Given the description of an element on the screen output the (x, y) to click on. 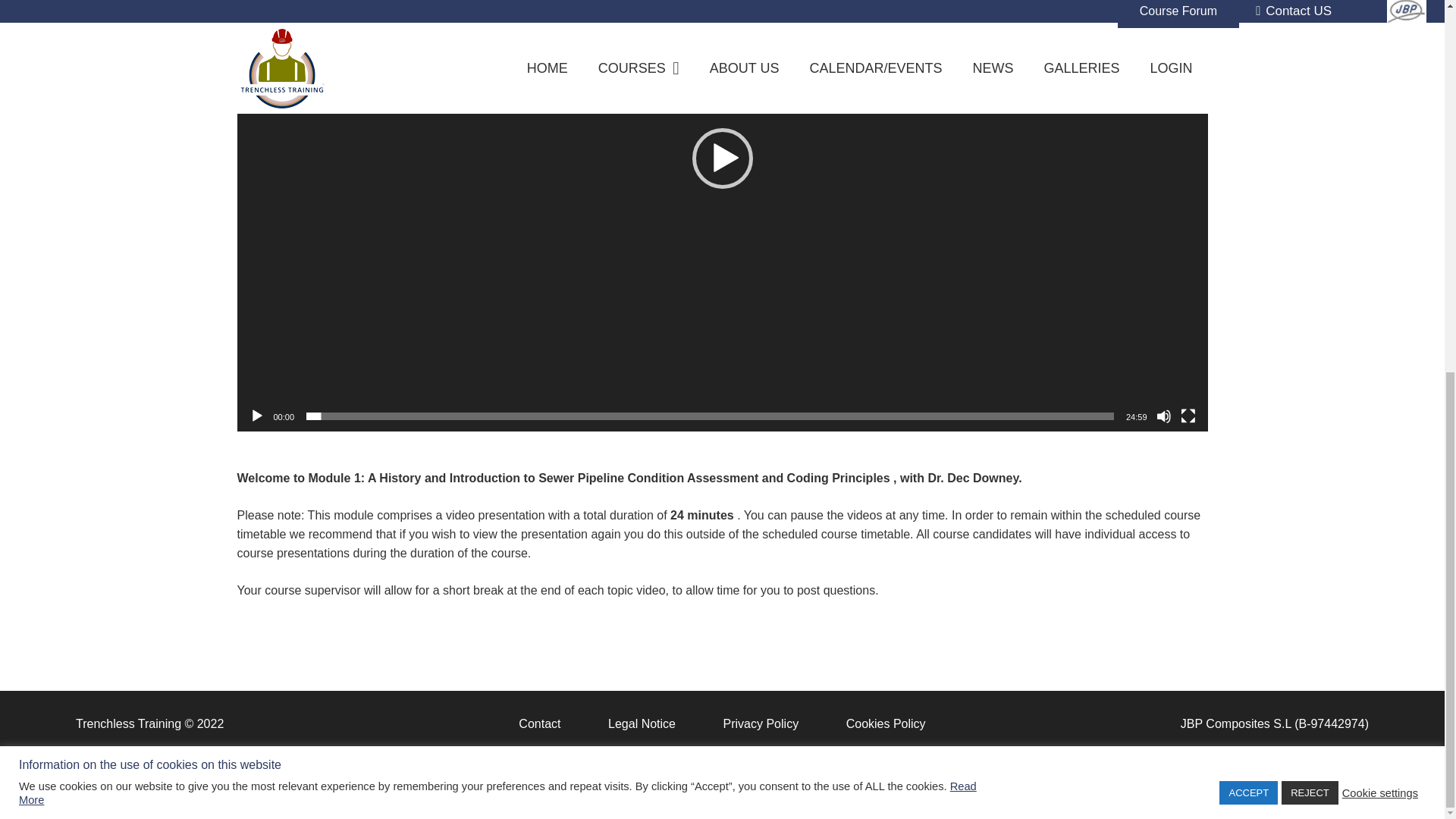
Fullscreen (1187, 416)
Legal Notice (641, 43)
Mute (1163, 416)
Read More (497, 112)
Back to top (1413, 166)
Privacy Policy (761, 43)
Cookie settings (1380, 112)
Cookies Policy (885, 43)
ACCEPT (1249, 113)
Contact (539, 43)
REJECT (1309, 113)
Play (255, 416)
